Given the description of an element on the screen output the (x, y) to click on. 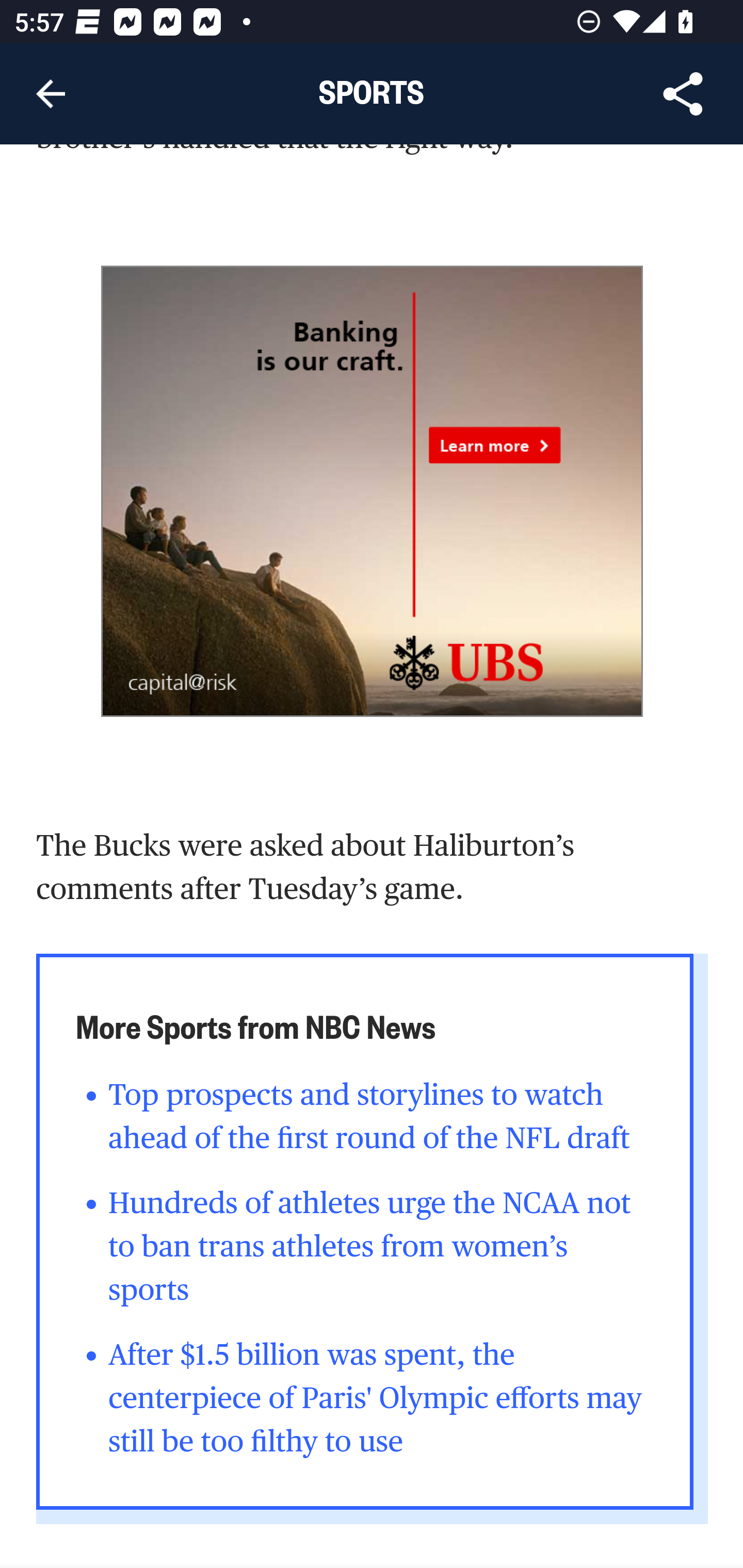
Navigate up (50, 93)
Share Article, button (683, 94)
